Given the description of an element on the screen output the (x, y) to click on. 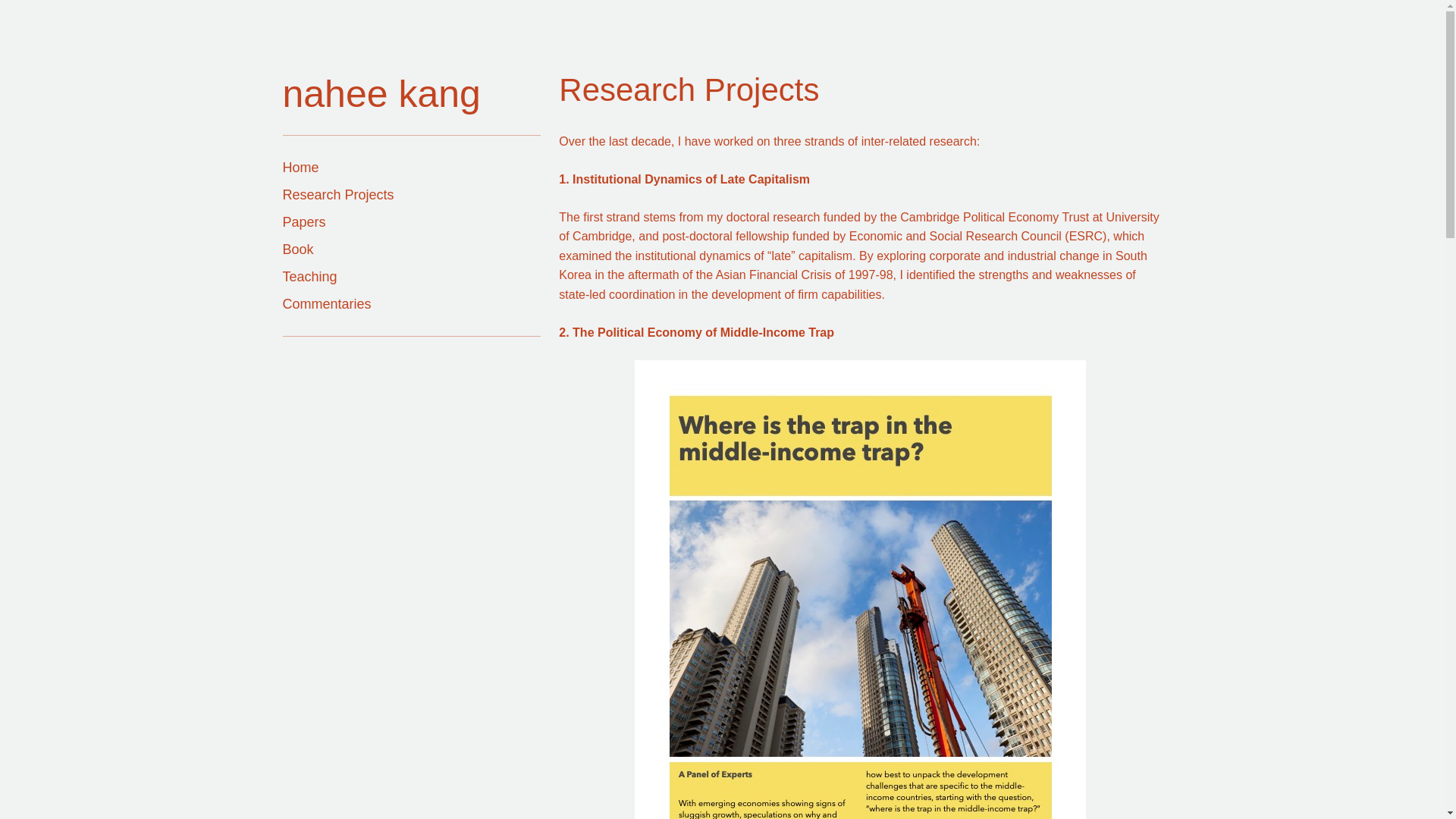
Commentaries (326, 303)
Book (297, 248)
Teaching (309, 276)
nahee kang (381, 93)
Papers (303, 221)
Home (300, 166)
Research Projects (337, 194)
